Given the description of an element on the screen output the (x, y) to click on. 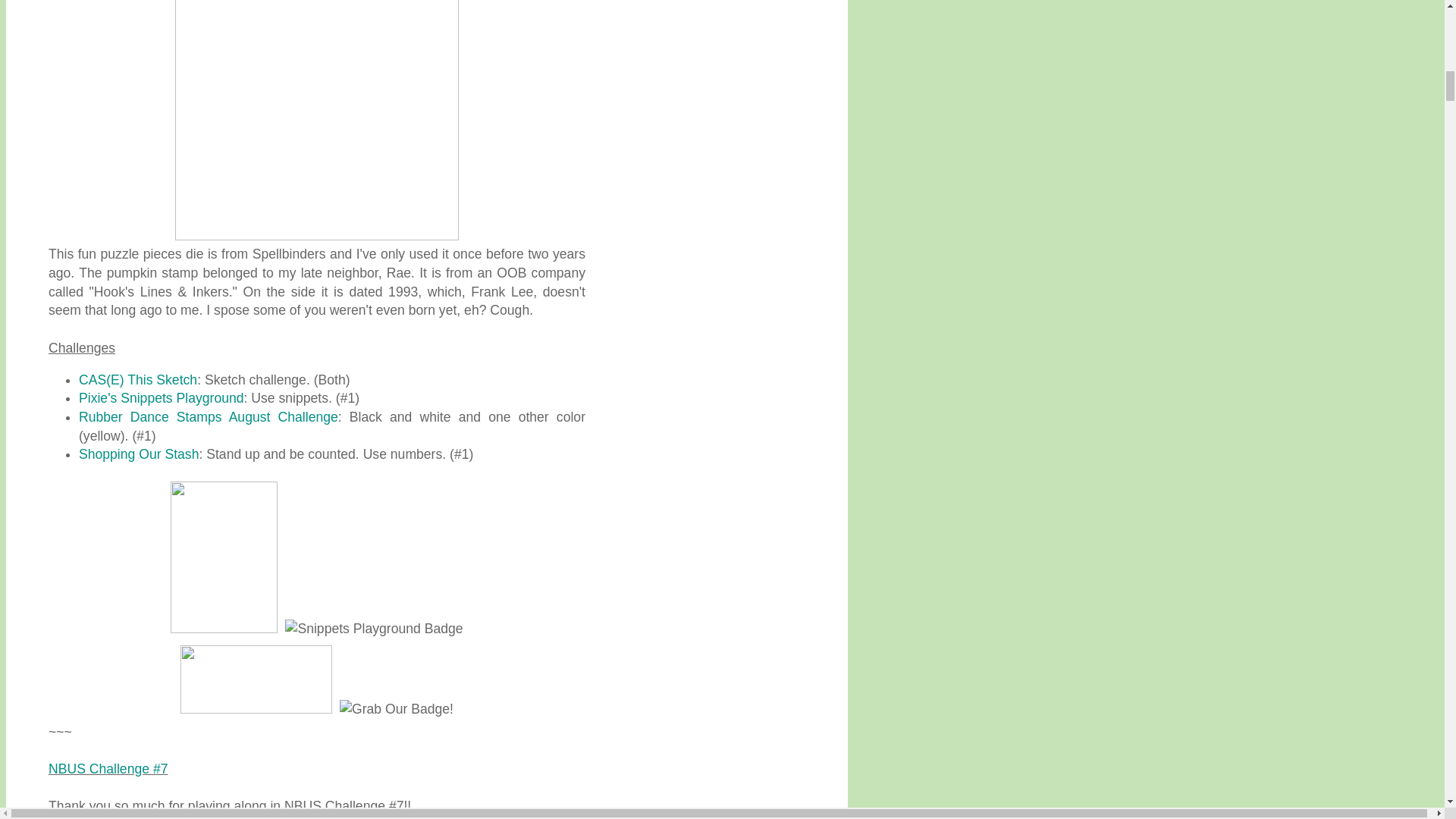
Pixie's Snippets Playground (161, 397)
Shopping Our Stash (138, 453)
Rubber Dance Stamps August Challenge (207, 417)
